Given the description of an element on the screen output the (x, y) to click on. 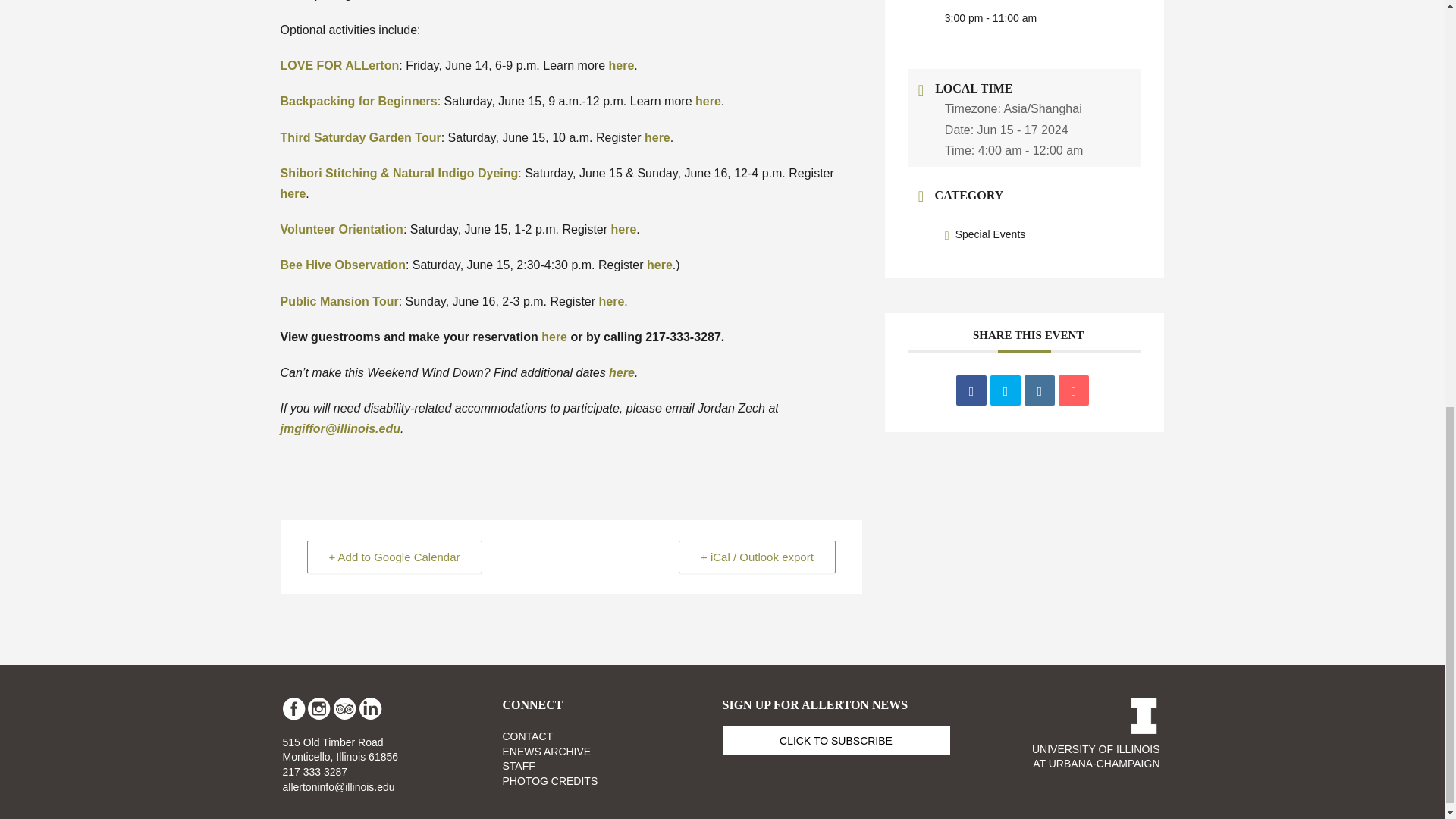
Share on Facebook (971, 390)
Linkedin (1039, 390)
Tweet (1005, 390)
Email (1073, 390)
